Given the description of an element on the screen output the (x, y) to click on. 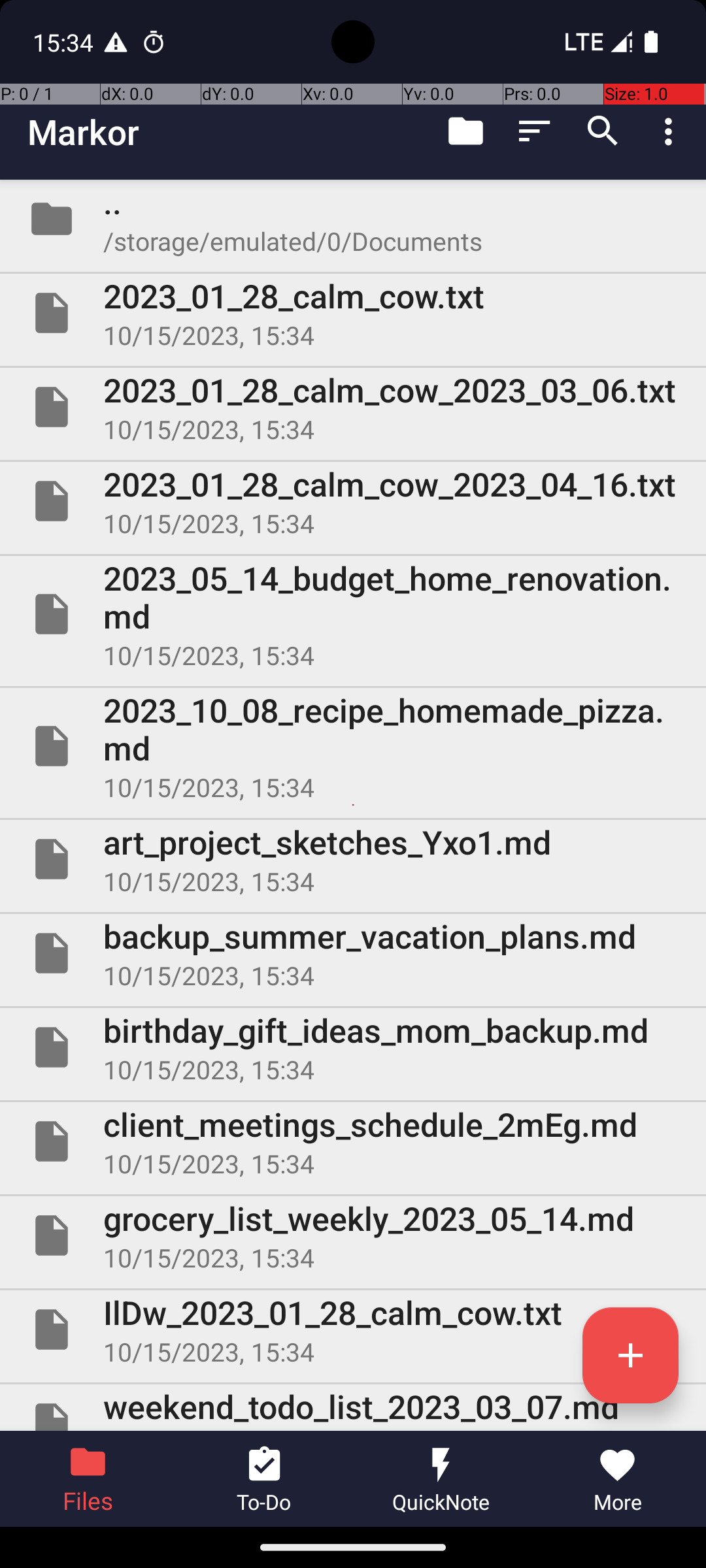
Create a new file or folder Element type: android.widget.ImageButton (630, 1355)
Go to Element type: android.widget.TextView (465, 131)
Sort by Element type: android.widget.TextView (534, 131)
To-Do Element type: android.widget.FrameLayout (264, 1478)
QuickNote Element type: android.widget.FrameLayout (441, 1478)
More Element type: android.widget.FrameLayout (617, 1478)
Folder ..  Element type: android.widget.LinearLayout (353, 218)
File 2023_01_28_calm_cow.txt  Element type: android.widget.LinearLayout (353, 312)
File 2023_01_28_calm_cow_2023_03_06.txt  Element type: android.widget.LinearLayout (353, 406)
File 2023_01_28_calm_cow_2023_04_16.txt  Element type: android.widget.LinearLayout (353, 500)
File 2023_05_14_budget_home_renovation.md  Element type: android.widget.LinearLayout (353, 613)
File 2023_10_08_recipe_homemade_pizza.md  Element type: android.widget.LinearLayout (353, 745)
File art_project_sketches_Yxo1.md  Element type: android.widget.LinearLayout (353, 858)
File backup_summer_vacation_plans.md  Element type: android.widget.LinearLayout (353, 953)
File birthday_gift_ideas_mom_backup.md  Element type: android.widget.LinearLayout (353, 1047)
File client_meetings_schedule_2mEg.md  Element type: android.widget.LinearLayout (353, 1141)
File grocery_list_weekly_2023_05_14.md  Element type: android.widget.LinearLayout (353, 1235)
File IlDw_2023_01_28_calm_cow.txt  Element type: android.widget.LinearLayout (353, 1329)
File weekend_todo_list_2023_03_07.md  Element type: android.widget.LinearLayout (353, 1407)
